Given the description of an element on the screen output the (x, y) to click on. 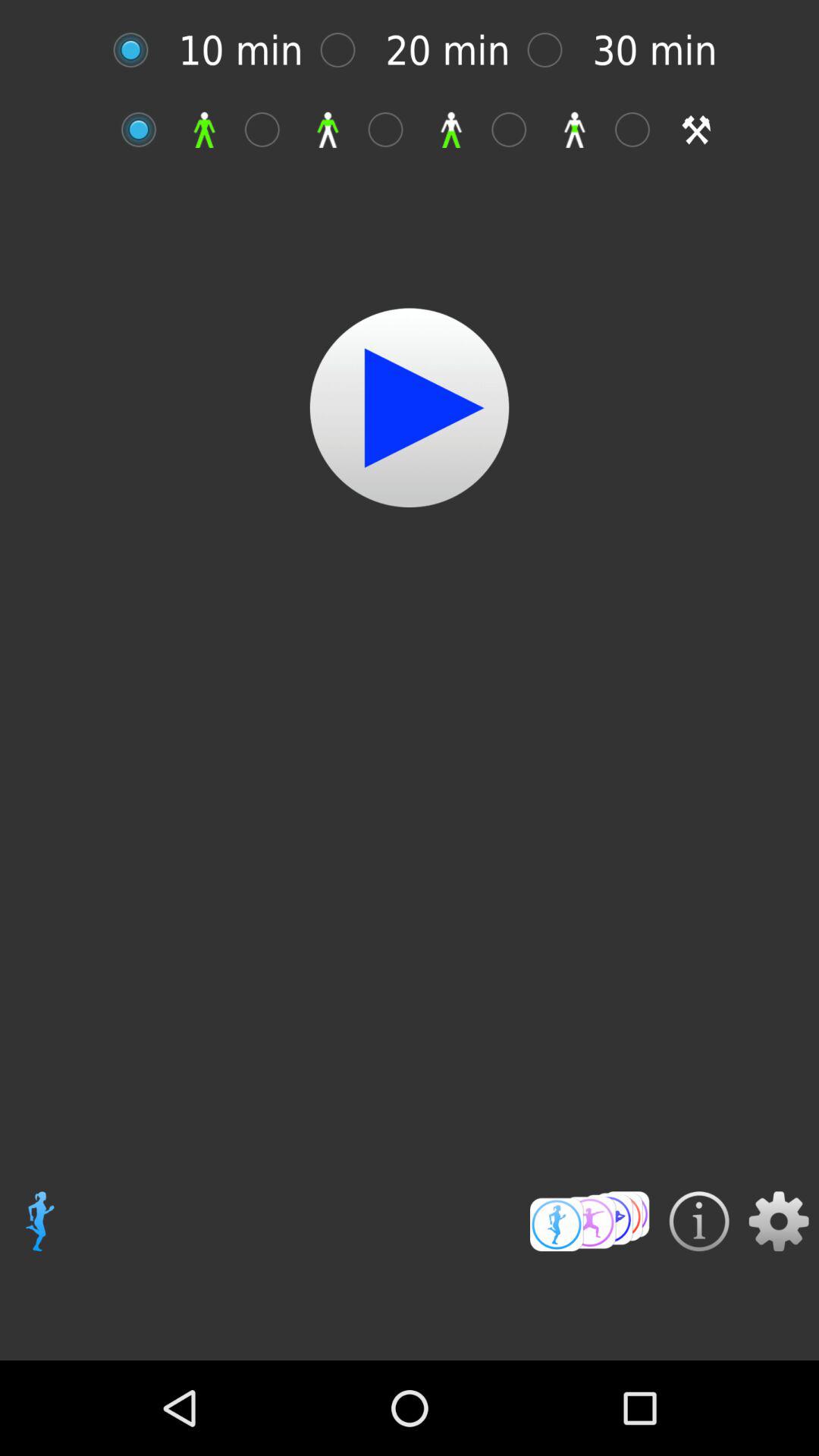
set the time 20 mins to work out (345, 49)
